Given the description of an element on the screen output the (x, y) to click on. 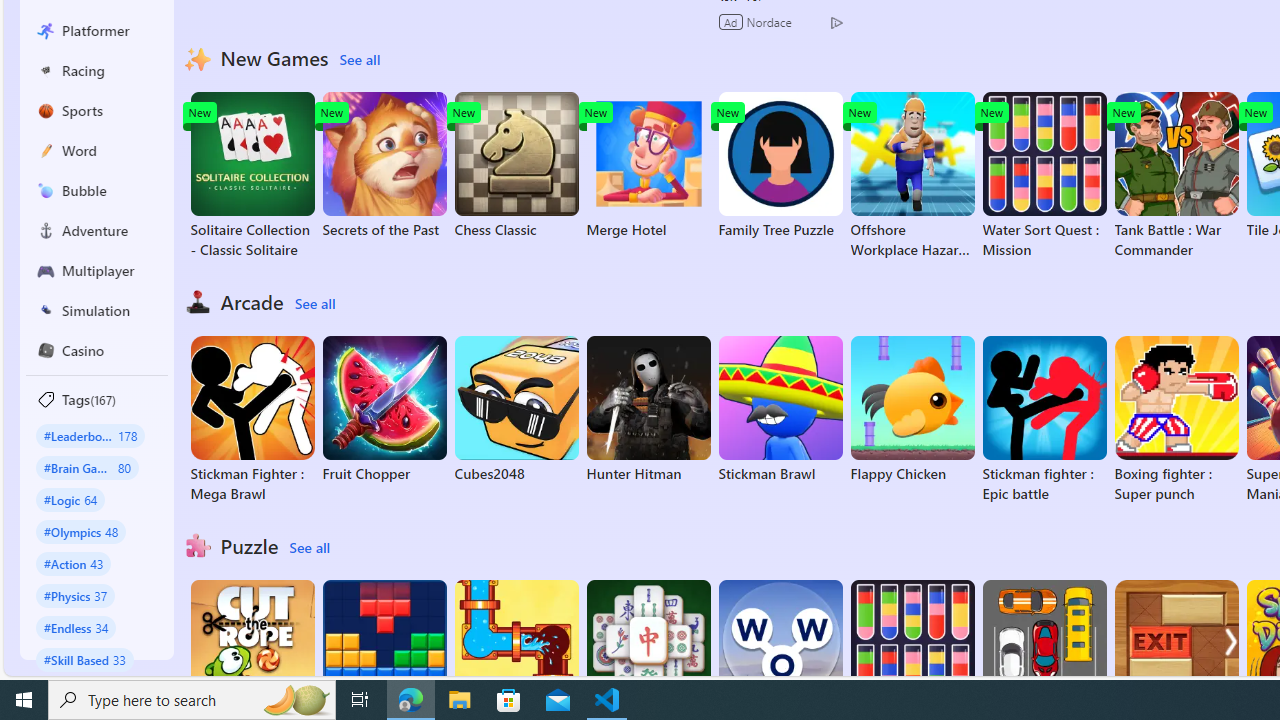
Merge Hotel (648, 165)
Offshore Workplace Hazard Game (912, 175)
#Endless 34 (75, 627)
Water Sort Quest : Mission (1044, 175)
Stickman fighter : Epic battle (1044, 419)
Tank Battle : War Commander (1176, 175)
Boxing fighter : Super punch (1176, 419)
#Physics 37 (75, 595)
#Olympics 48 (80, 531)
#Logic 64 (70, 498)
Chess Classic (516, 165)
#Brain Games 80 (87, 467)
Class: ad-choice  ad-choice-mono  (836, 21)
Stickman Fighter : Mega Brawl (251, 419)
